Given the description of an element on the screen output the (x, y) to click on. 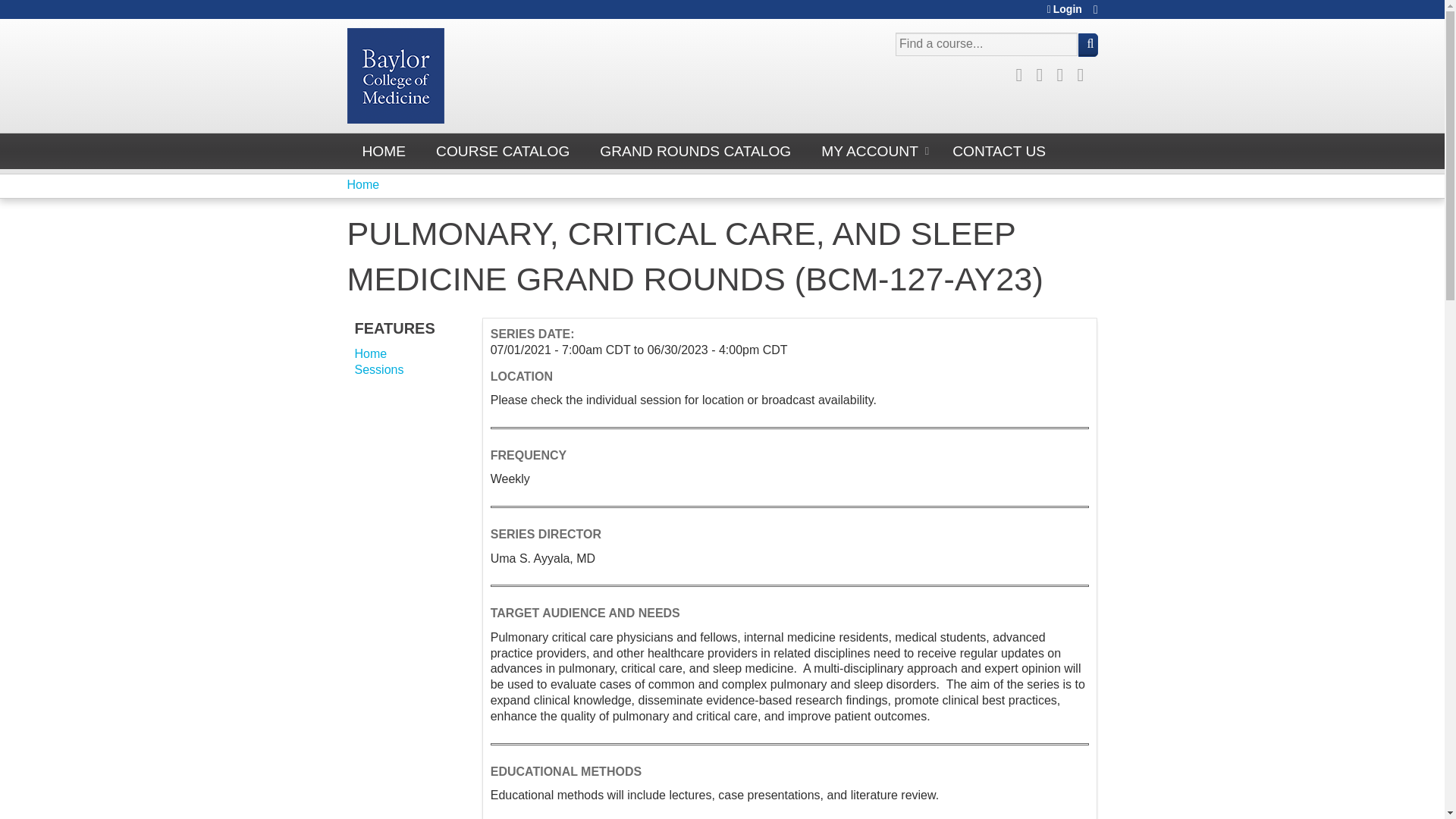
Home (363, 184)
CONTACT US (999, 150)
GRAND ROUNDS CATALOG (695, 150)
HOME (384, 150)
COURSE CATALOG (502, 150)
MY ACCOUNT (871, 150)
Login (1063, 9)
